Given the description of an element on the screen output the (x, y) to click on. 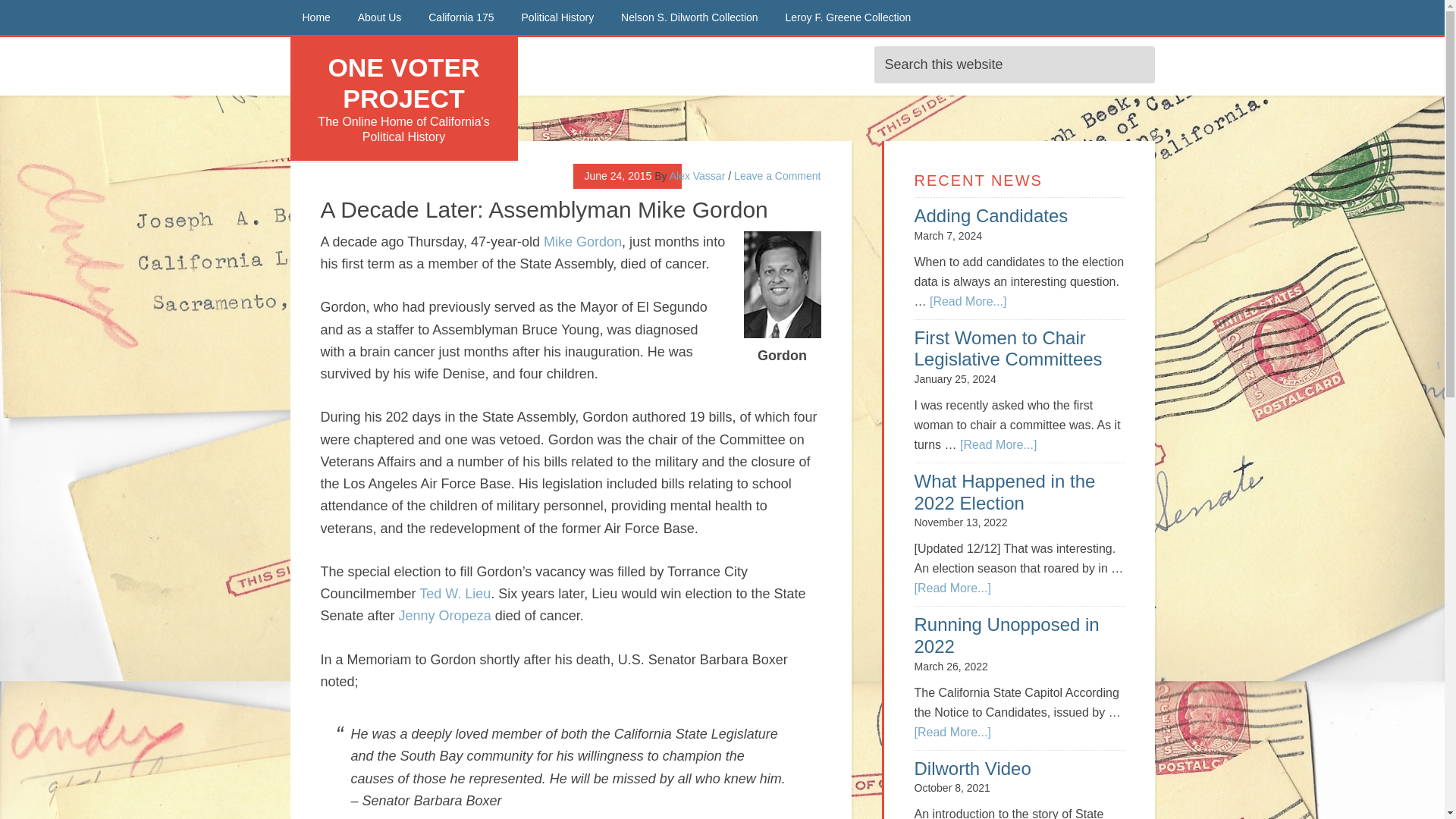
Mike Gordon (582, 241)
Nelson S. Dilworth Collection (689, 17)
ONE VOTER PROJECT (403, 83)
Political History (558, 17)
Jenny Oropeza (445, 615)
What Happened in the 2022 Election (1005, 491)
Ted W. Lieu (454, 593)
Leave a Comment (777, 175)
Leroy F. Greene Collection (848, 17)
